Given the description of an element on the screen output the (x, y) to click on. 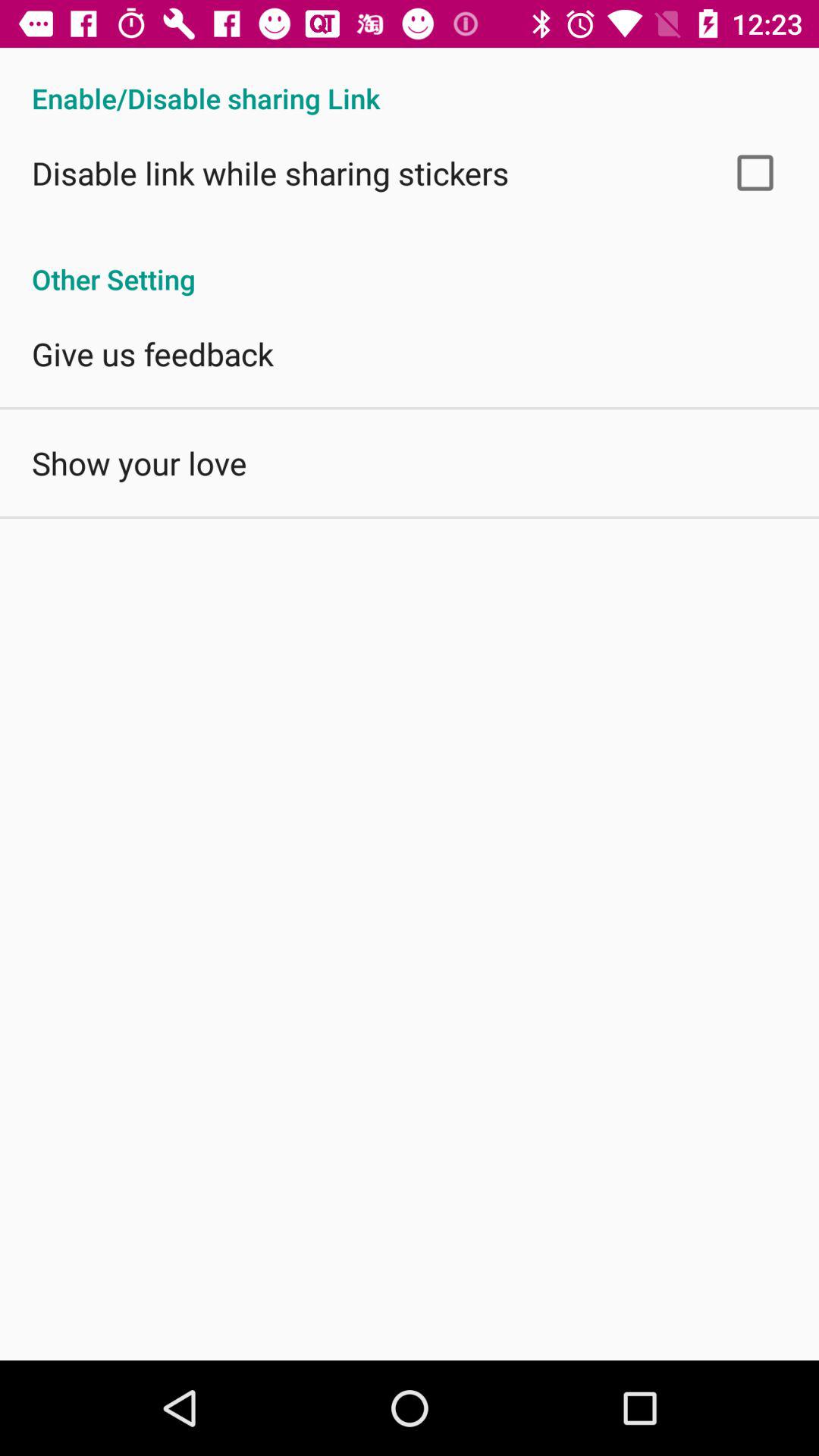
select the app below give us feedback icon (138, 462)
